Given the description of an element on the screen output the (x, y) to click on. 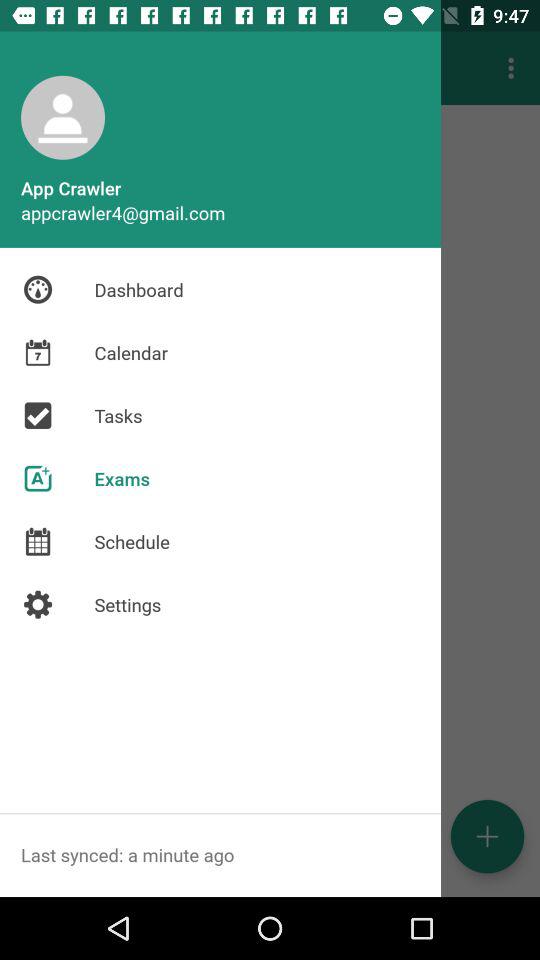
go to top left corner (62, 117)
